Given the description of an element on the screen output the (x, y) to click on. 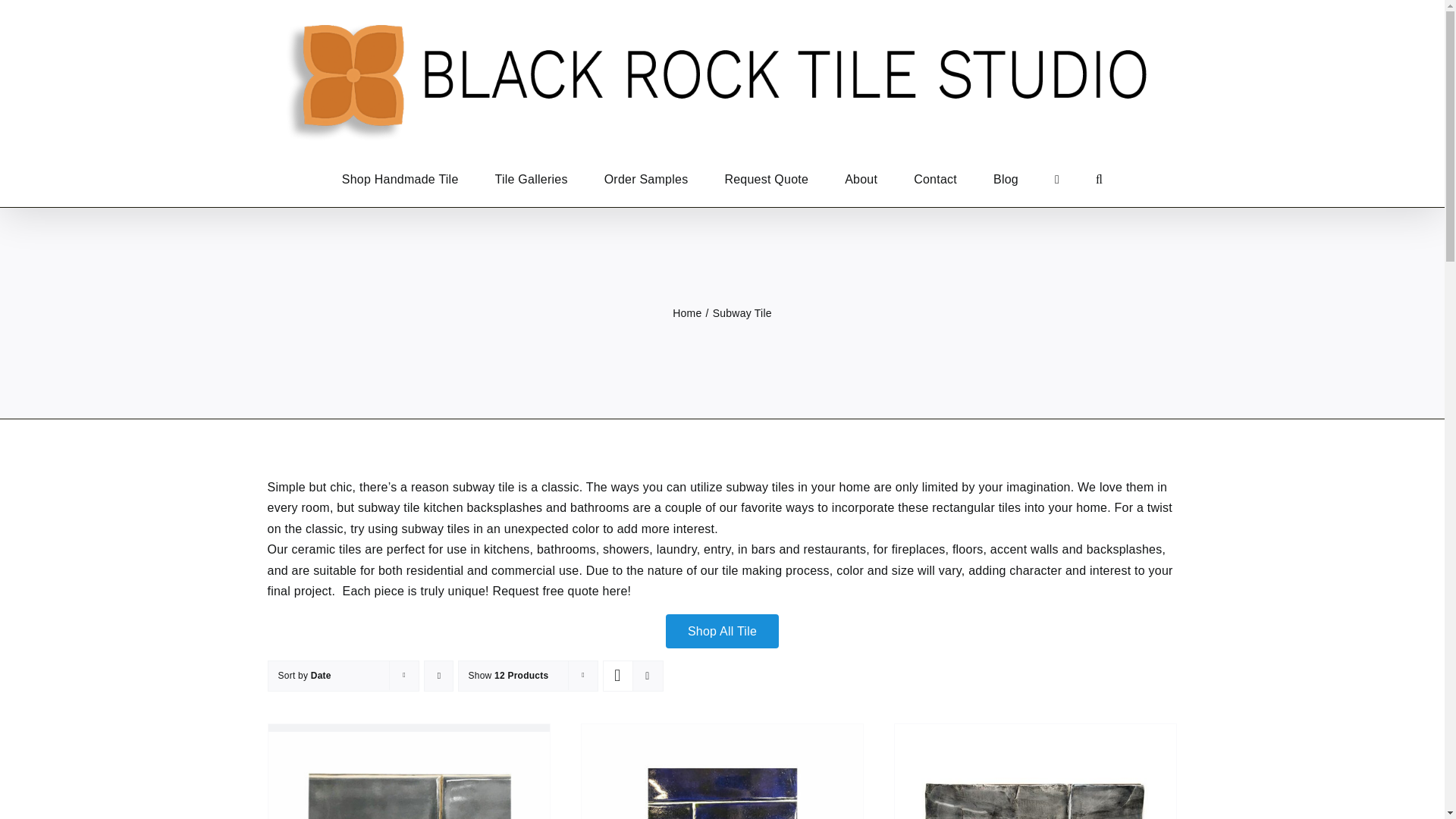
Order Tile Samples (646, 178)
Tile Galleries (531, 178)
Order Samples (646, 178)
Request Quote (765, 178)
Shop Handmade Tile (400, 178)
Shop Handmade Tile (400, 178)
